Given the description of an element on the screen output the (x, y) to click on. 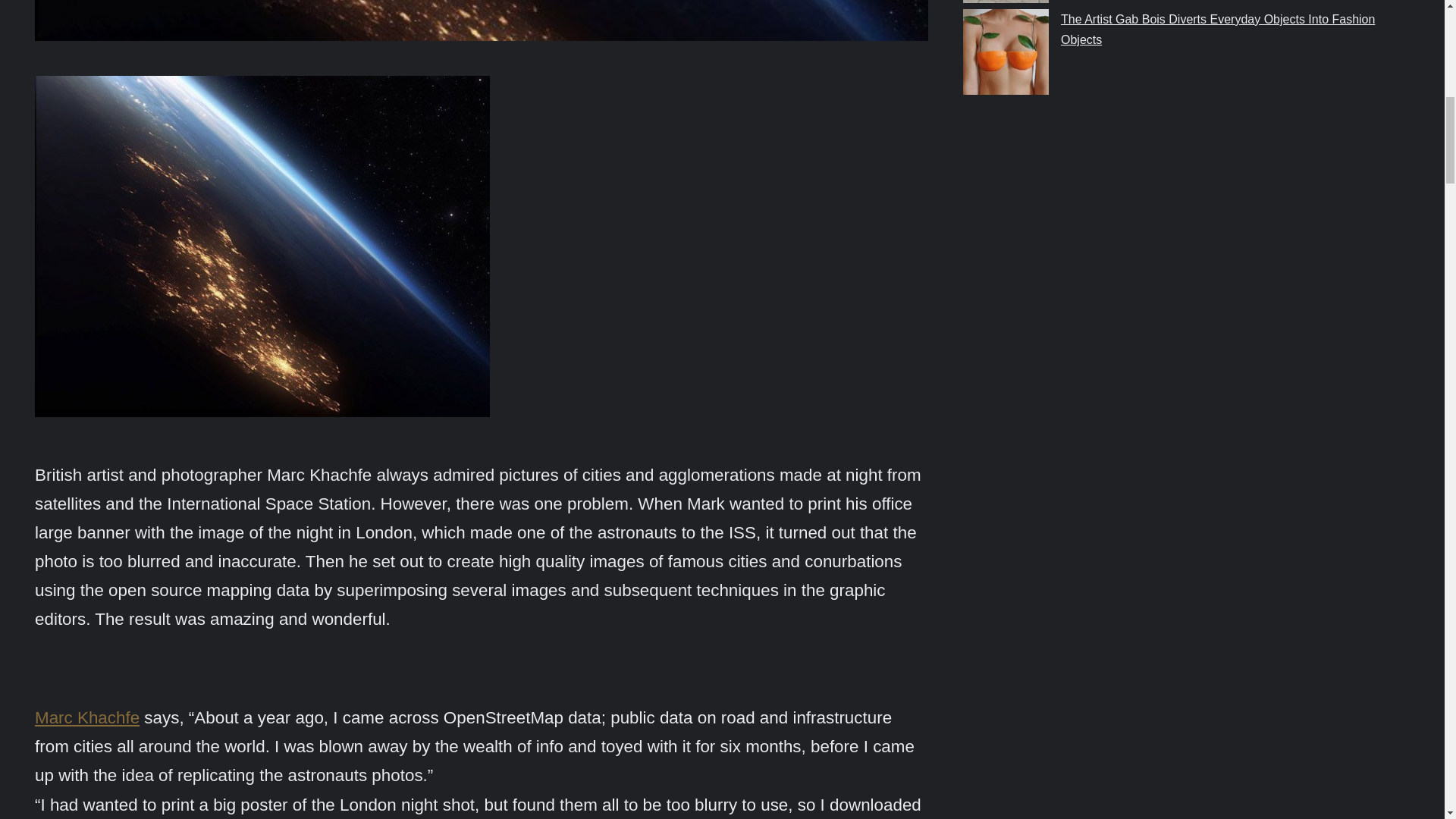
Marc Khachfe (86, 717)
